Given the description of an element on the screen output the (x, y) to click on. 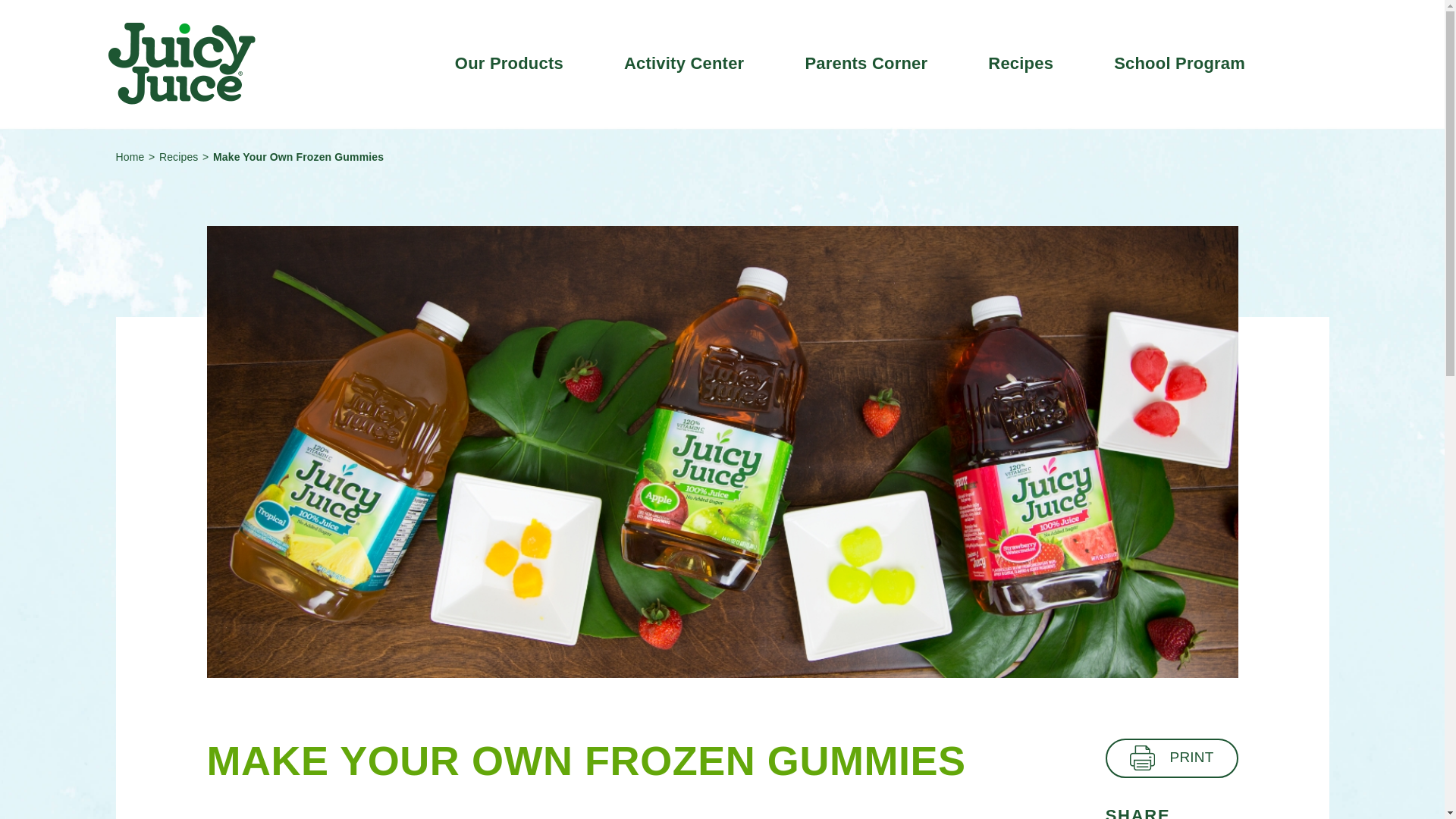
Recipes (1020, 63)
Recipes (178, 156)
School Program (1178, 63)
PRINT (1172, 758)
Home (129, 156)
Parents Corner (866, 63)
Activity Center (684, 63)
Our Products (508, 63)
